Given the description of an element on the screen output the (x, y) to click on. 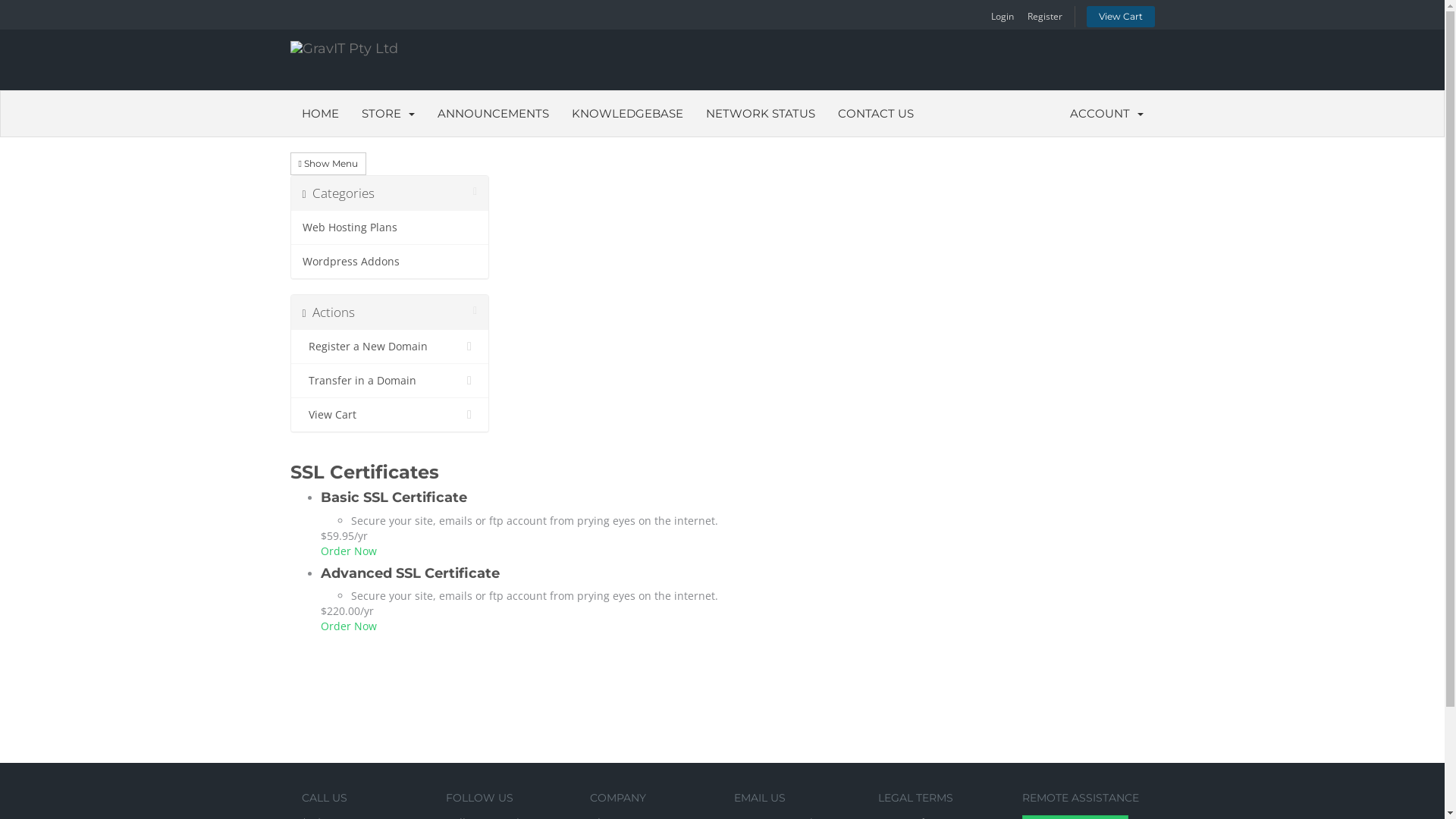
Show Menu Element type: text (327, 163)
Order Now Element type: text (348, 625)
NETWORK STATUS Element type: text (760, 113)
Register Element type: text (1044, 19)
  Transfer in a Domain Element type: text (390, 380)
View Cart Element type: text (1119, 16)
HOME Element type: text (319, 113)
STORE   Element type: text (388, 113)
Order Now Element type: text (348, 550)
  View Cart Element type: text (390, 414)
CONTACT US Element type: text (875, 113)
Wordpress Addons Element type: text (390, 261)
KNOWLEDGEBASE Element type: text (626, 113)
Login Element type: text (1002, 19)
Web Hosting Plans Element type: text (390, 227)
ACCOUNT   Element type: text (1106, 113)
  Register a New Domain Element type: text (390, 346)
ANNOUNCEMENTS Element type: text (493, 113)
